Given the description of an element on the screen output the (x, y) to click on. 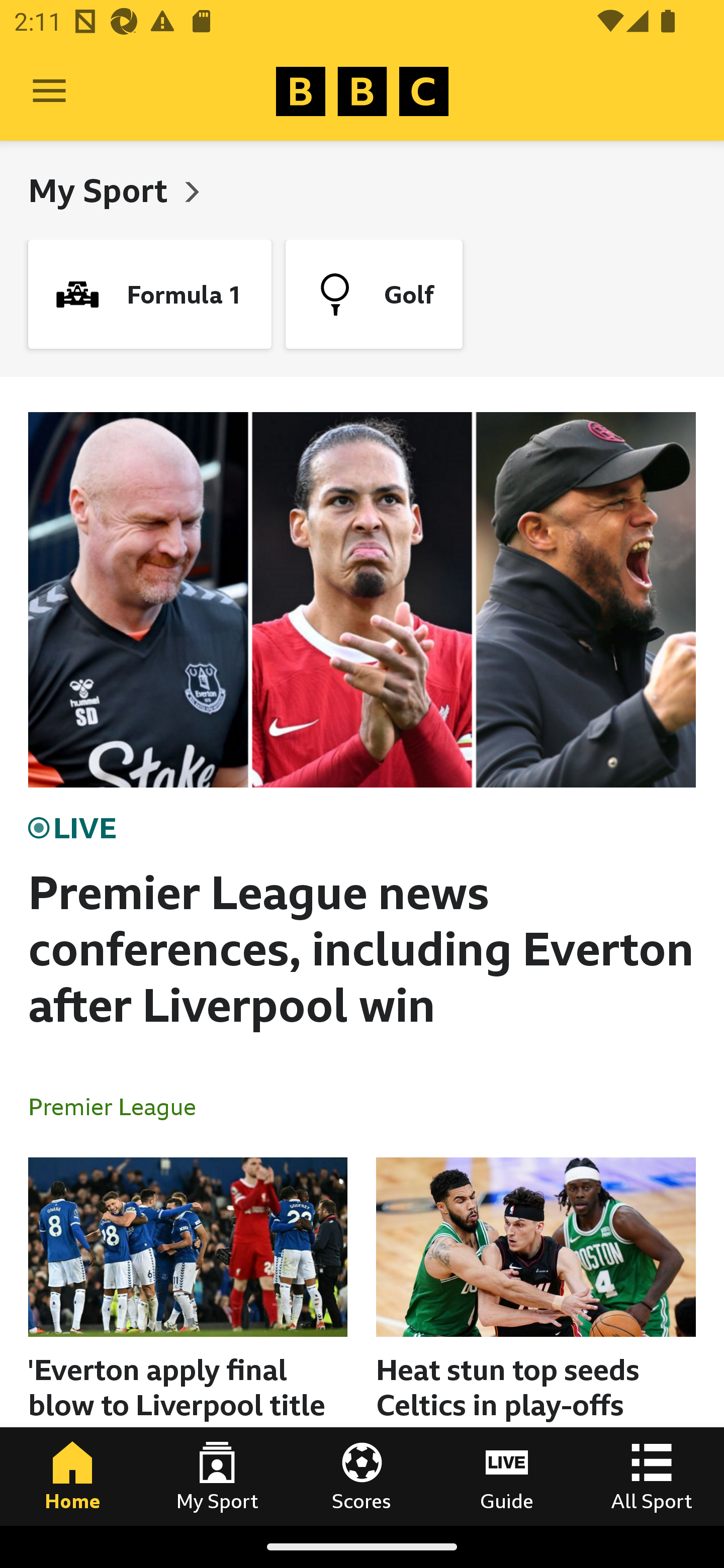
Open Menu (49, 91)
My Sport (101, 190)
Premier League In the section Premier League (119, 1106)
My Sport (216, 1475)
Scores (361, 1475)
Guide (506, 1475)
All Sport (651, 1475)
